Given the description of an element on the screen output the (x, y) to click on. 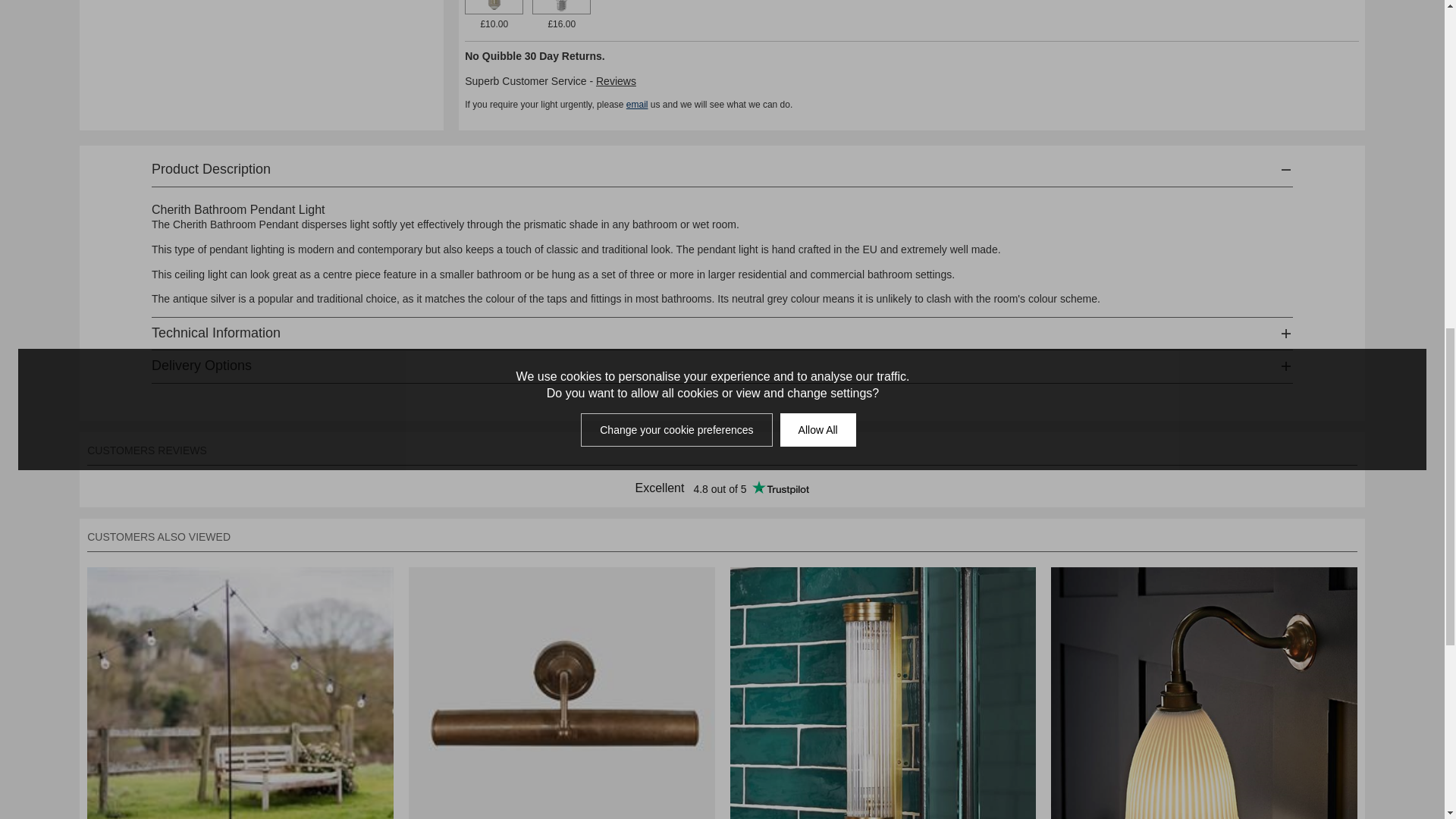
Customer reviews powered by Trustpilot (721, 488)
